Given the description of an element on the screen output the (x, y) to click on. 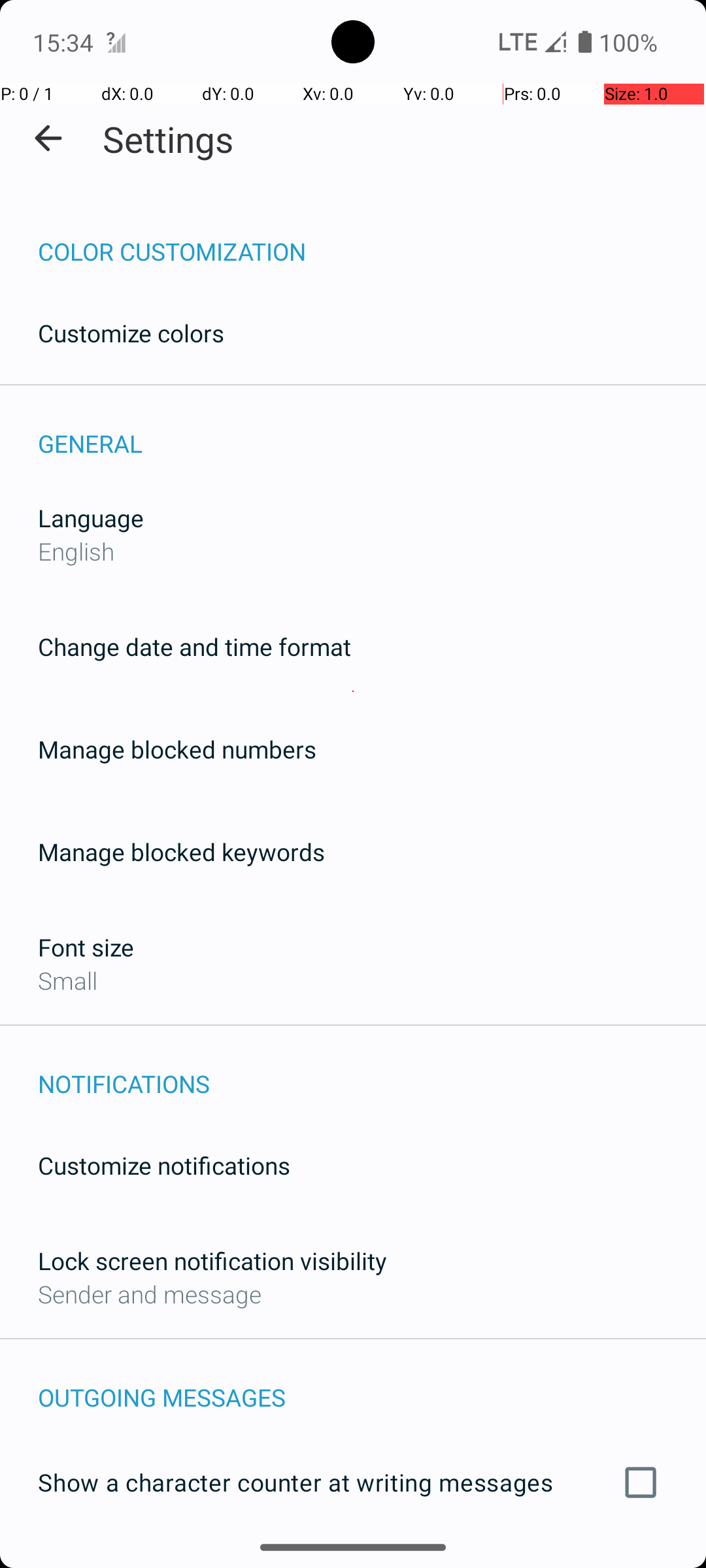
Small Element type: android.widget.TextView (67, 979)
Sender and message Element type: android.widget.TextView (149, 1293)
